Given the description of an element on the screen output the (x, y) to click on. 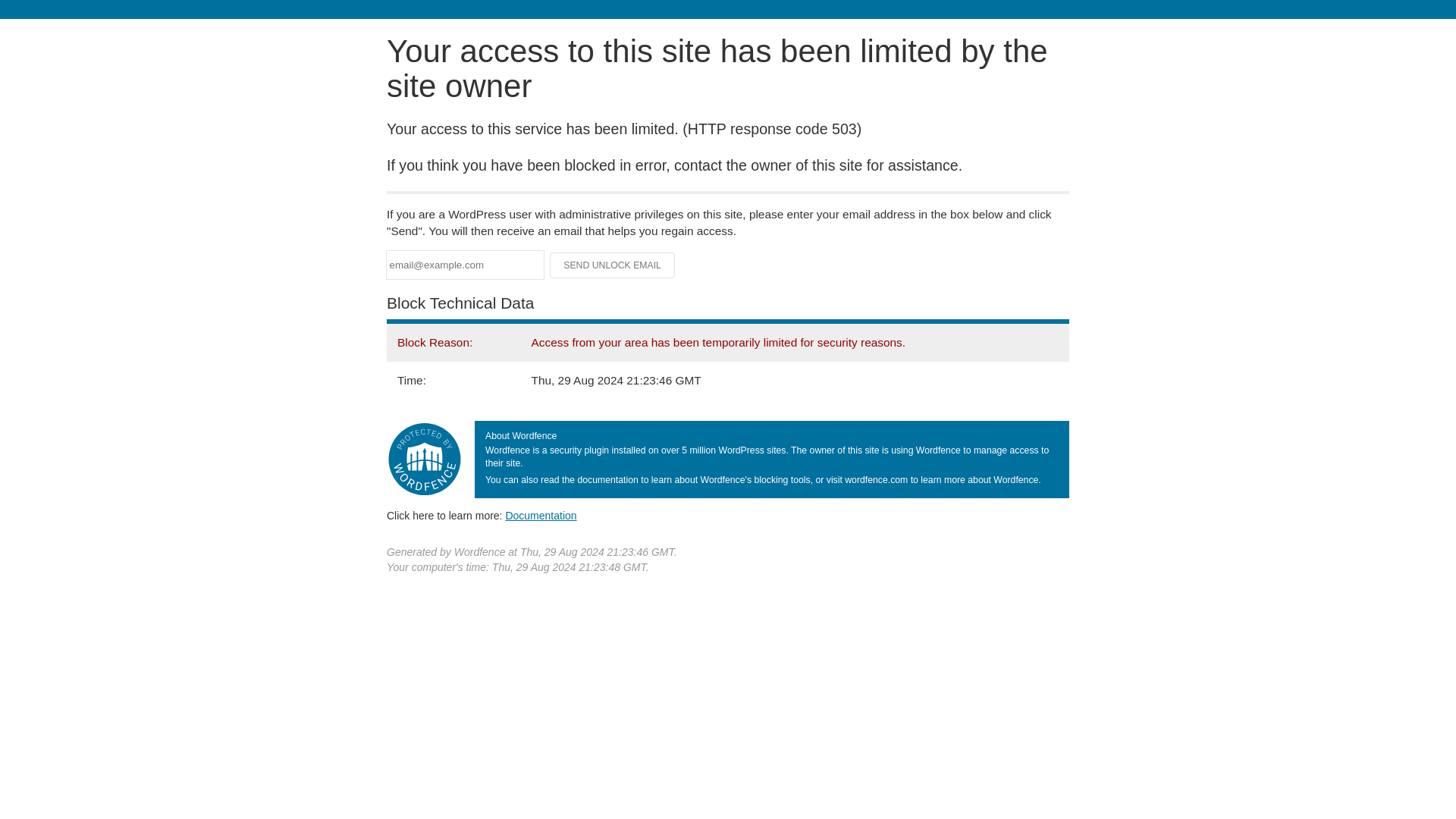
Documentation (540, 515)
Send Unlock Email (612, 265)
Send Unlock Email (612, 265)
